Given the description of an element on the screen output the (x, y) to click on. 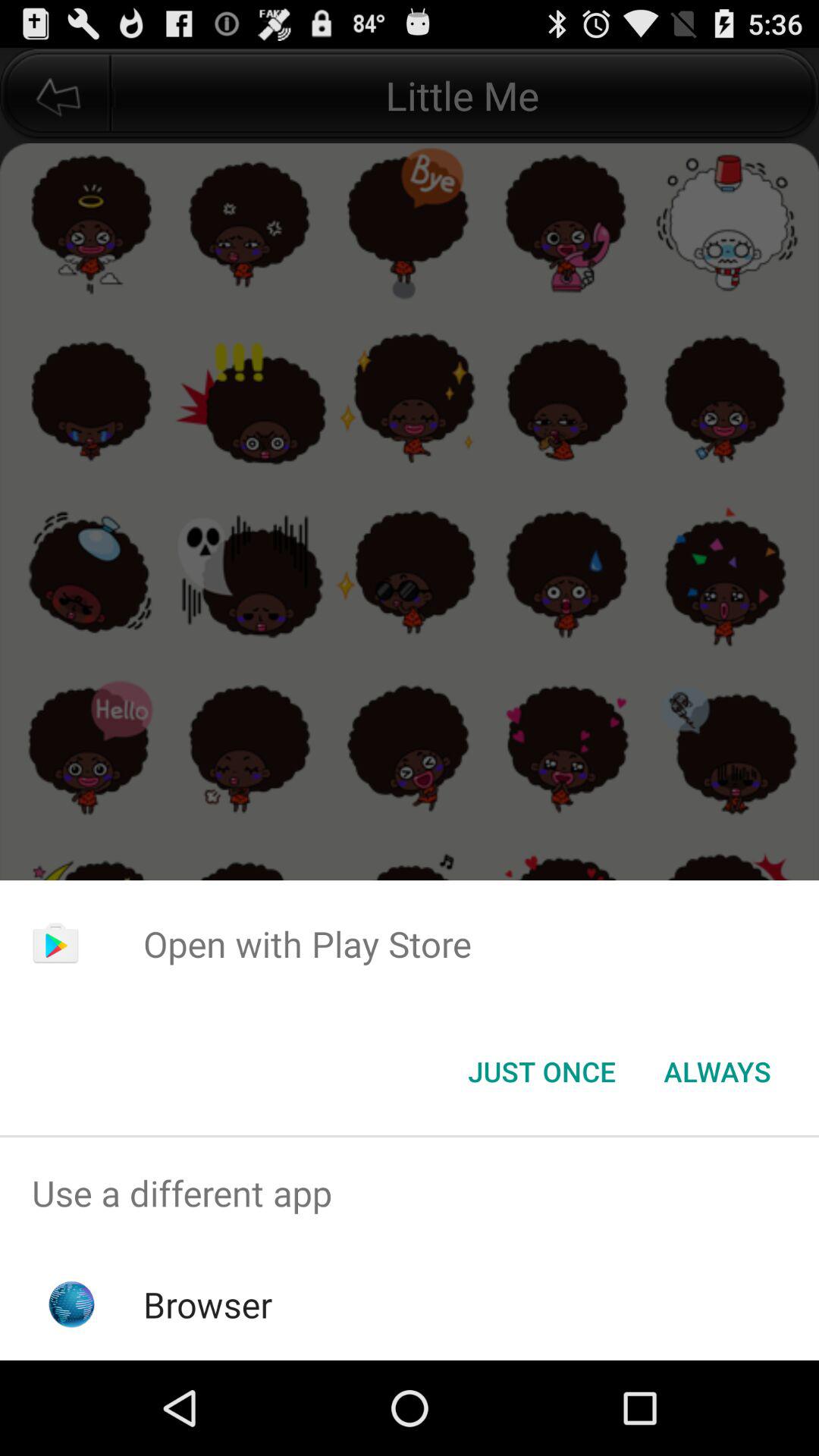
turn on use a different item (409, 1192)
